Given the description of an element on the screen output the (x, y) to click on. 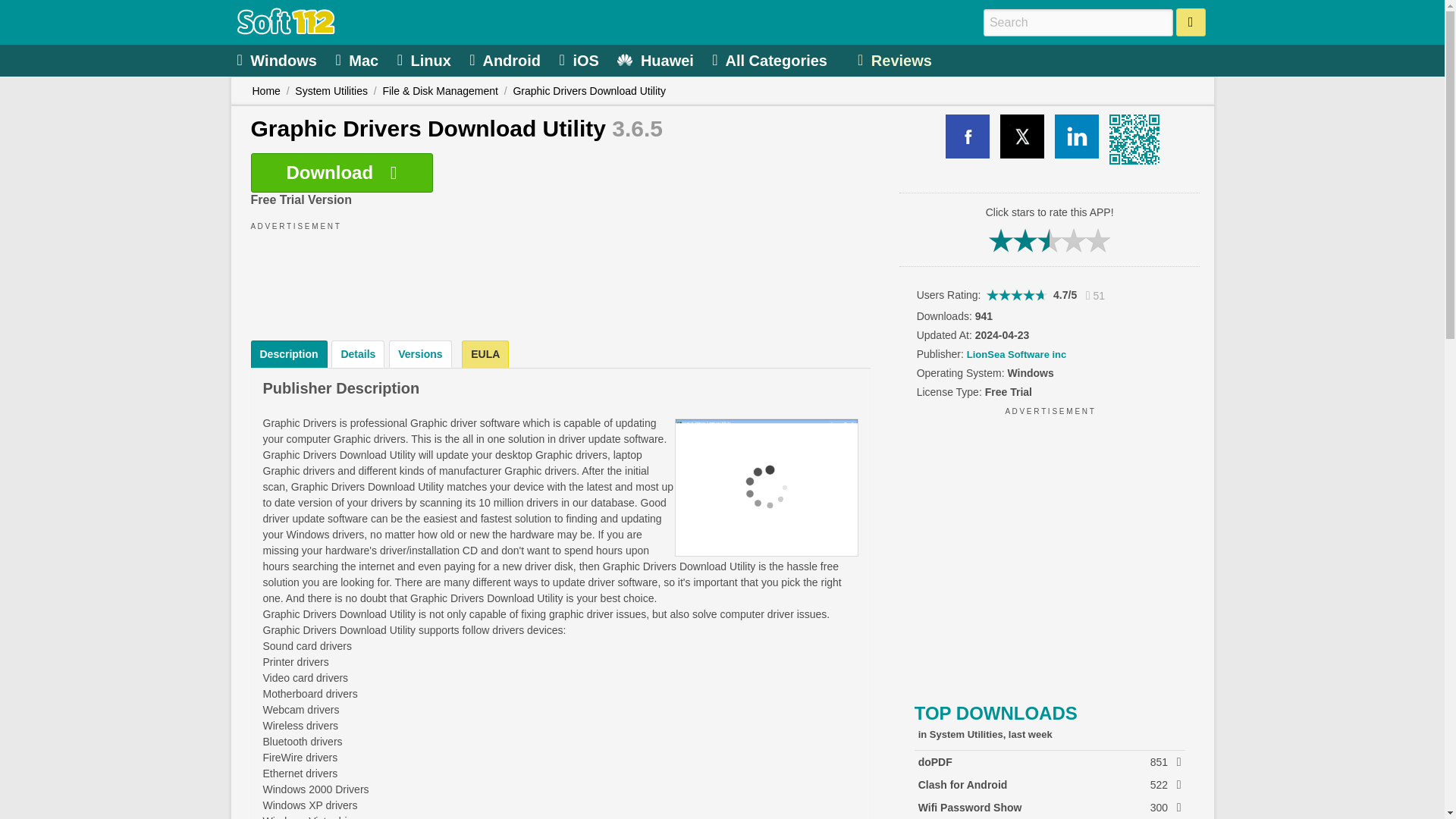
Huawei (657, 59)
Search (1190, 22)
Get the QRCode (1131, 136)
System Utilities (331, 91)
Android (1049, 784)
Linux (506, 59)
EULA (425, 59)
Advertisement (484, 353)
Download (1049, 550)
